Given the description of an element on the screen output the (x, y) to click on. 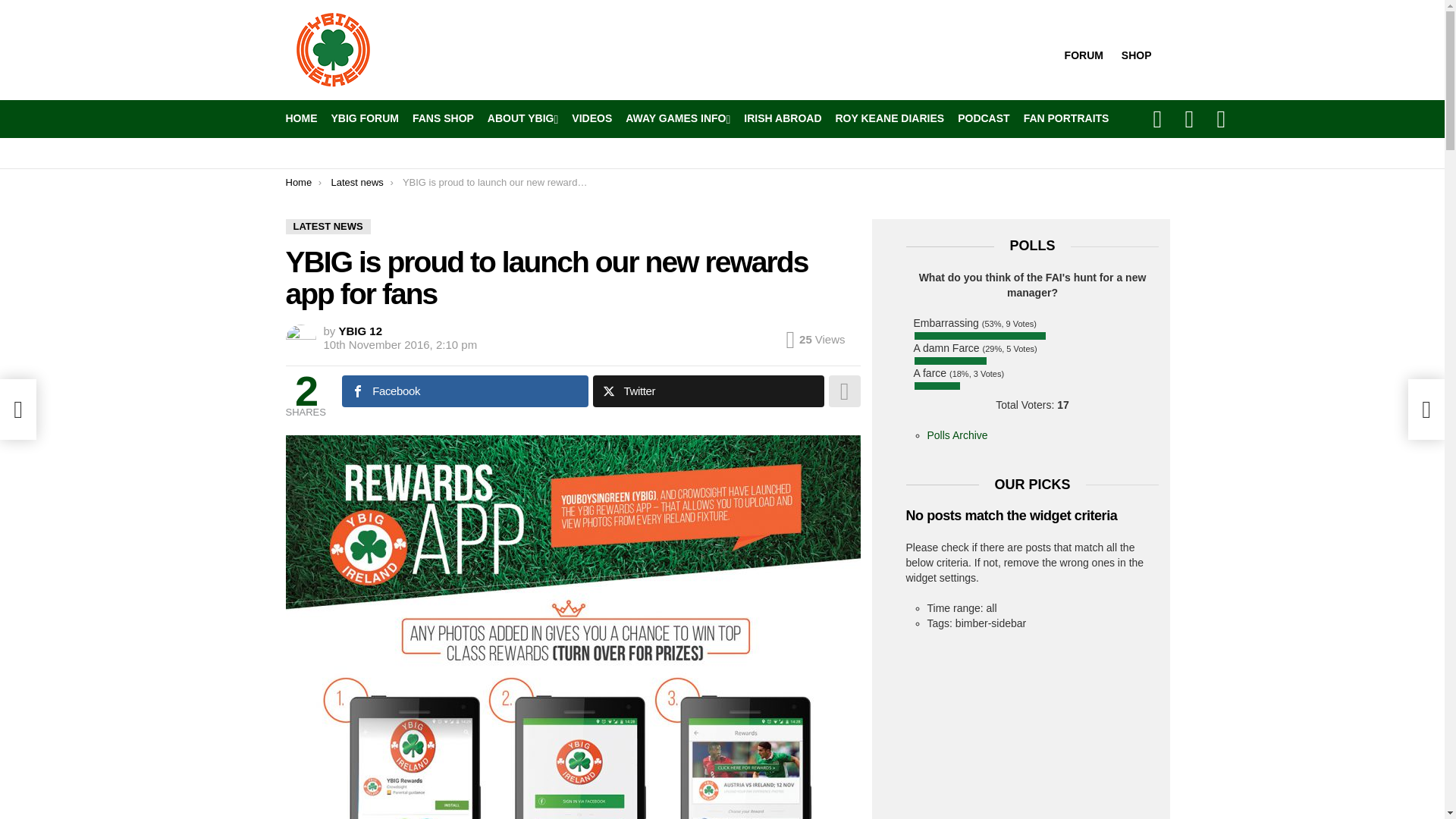
VIDEOS (591, 117)
AWAY GAMES INFO (678, 118)
FANS SHOP (443, 117)
YBIG FORUM (363, 117)
Posts by YBIG 12 (360, 330)
FORUM (1083, 49)
HOME (301, 117)
ABOUT YBIG (522, 118)
SHOP (1135, 49)
ROY KEANE DIARIES (889, 117)
PODCAST (983, 117)
FAN PORTRAITS (1066, 117)
IRISH ABROAD (782, 117)
